Given the description of an element on the screen output the (x, y) to click on. 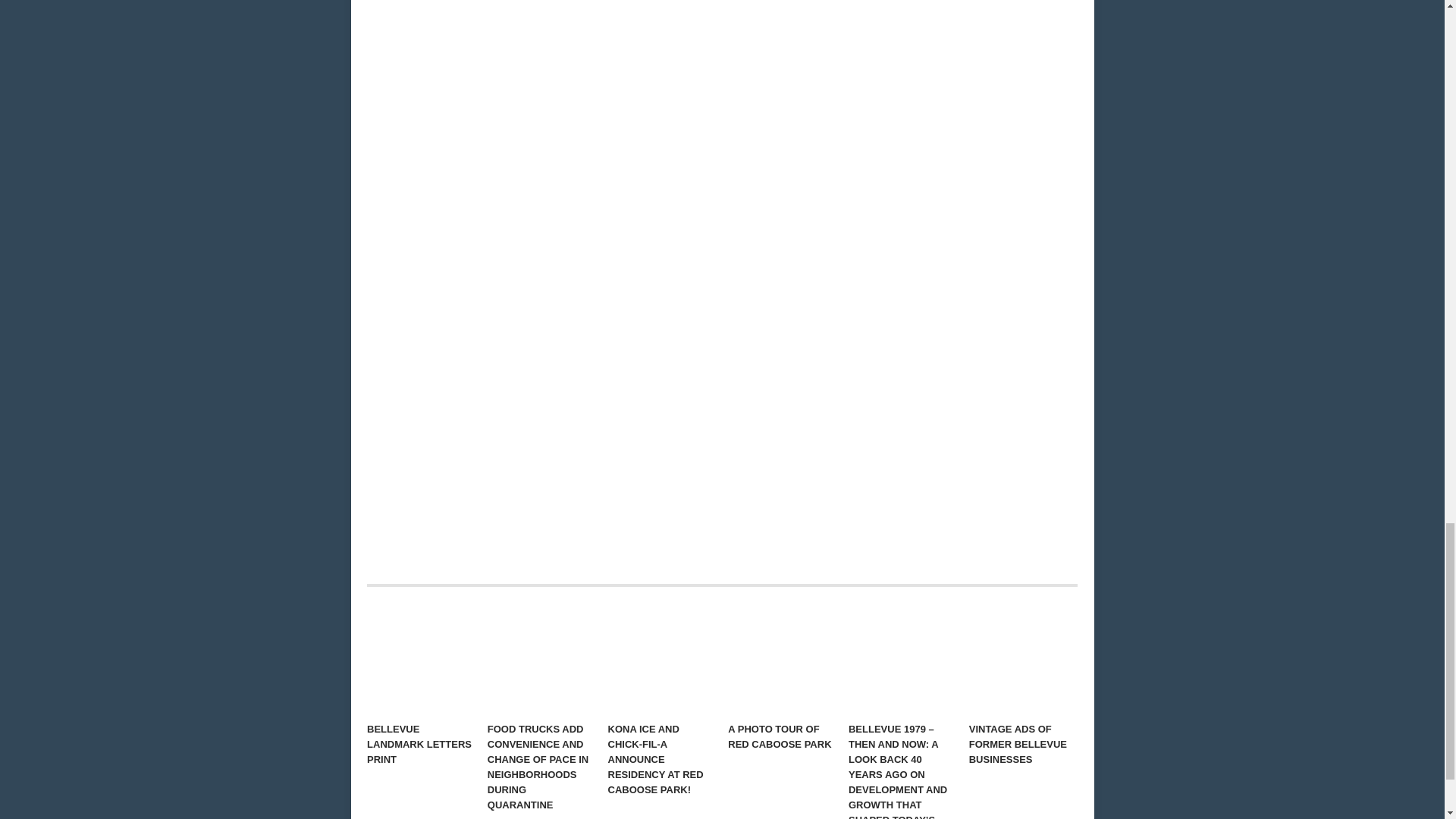
VINTAGE ADS OF FORMER BELLEVUE BUSINESSES (1022, 661)
Bellevue Landmark Letters Print (419, 661)
Advertisement (969, 39)
BELLEVUE LANDMARK LETTERS PRINT (419, 661)
A PHOTO TOUR OF RED CABOOSE PARK (781, 661)
